Given the description of an element on the screen output the (x, y) to click on. 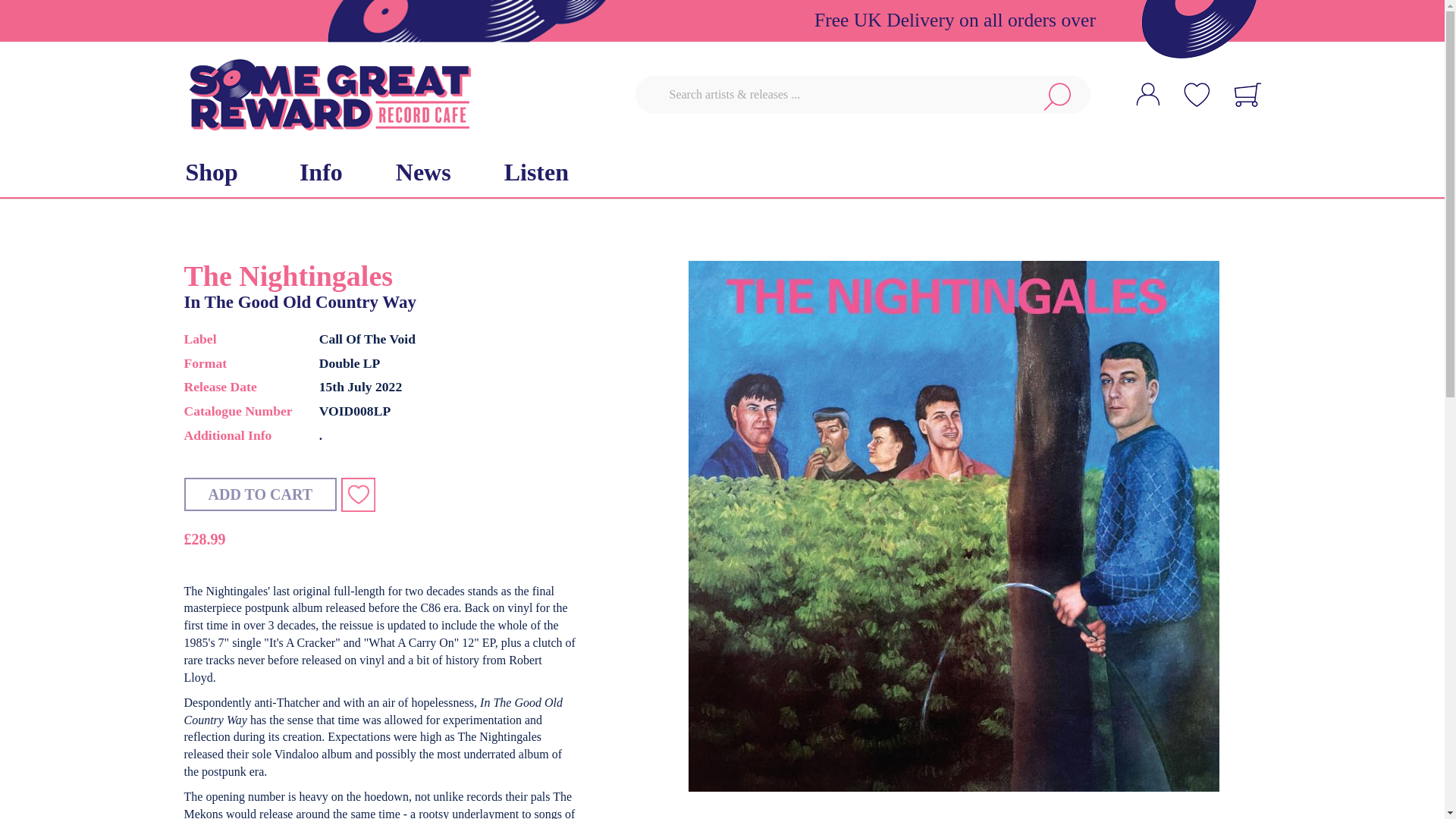
SEARCH (1056, 95)
My Account (1146, 94)
Shop (215, 172)
My Wish List (1195, 87)
Search (1056, 95)
Add to Cart (259, 494)
